Given the description of an element on the screen output the (x, y) to click on. 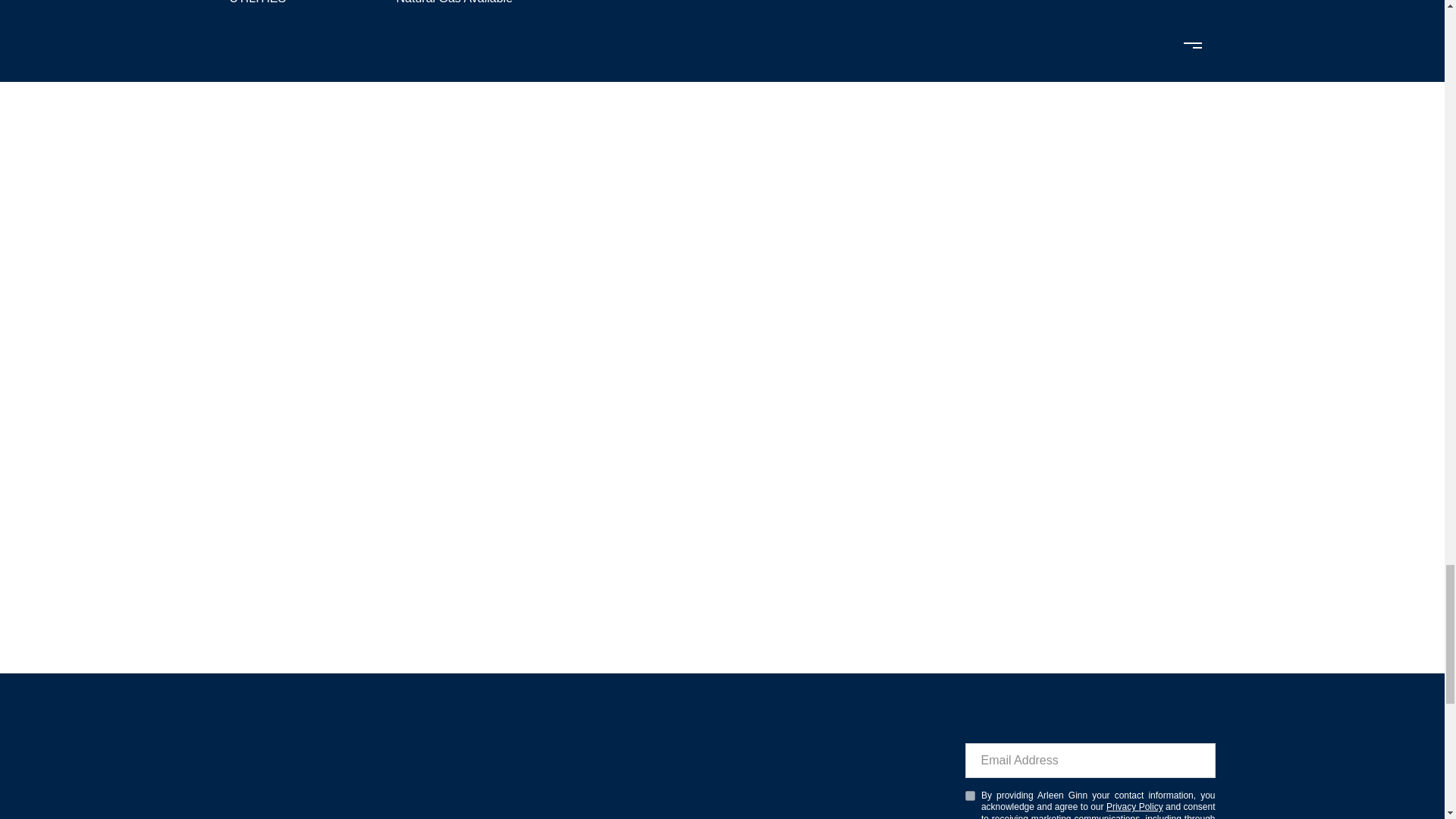
on (968, 795)
